Given the description of an element on the screen output the (x, y) to click on. 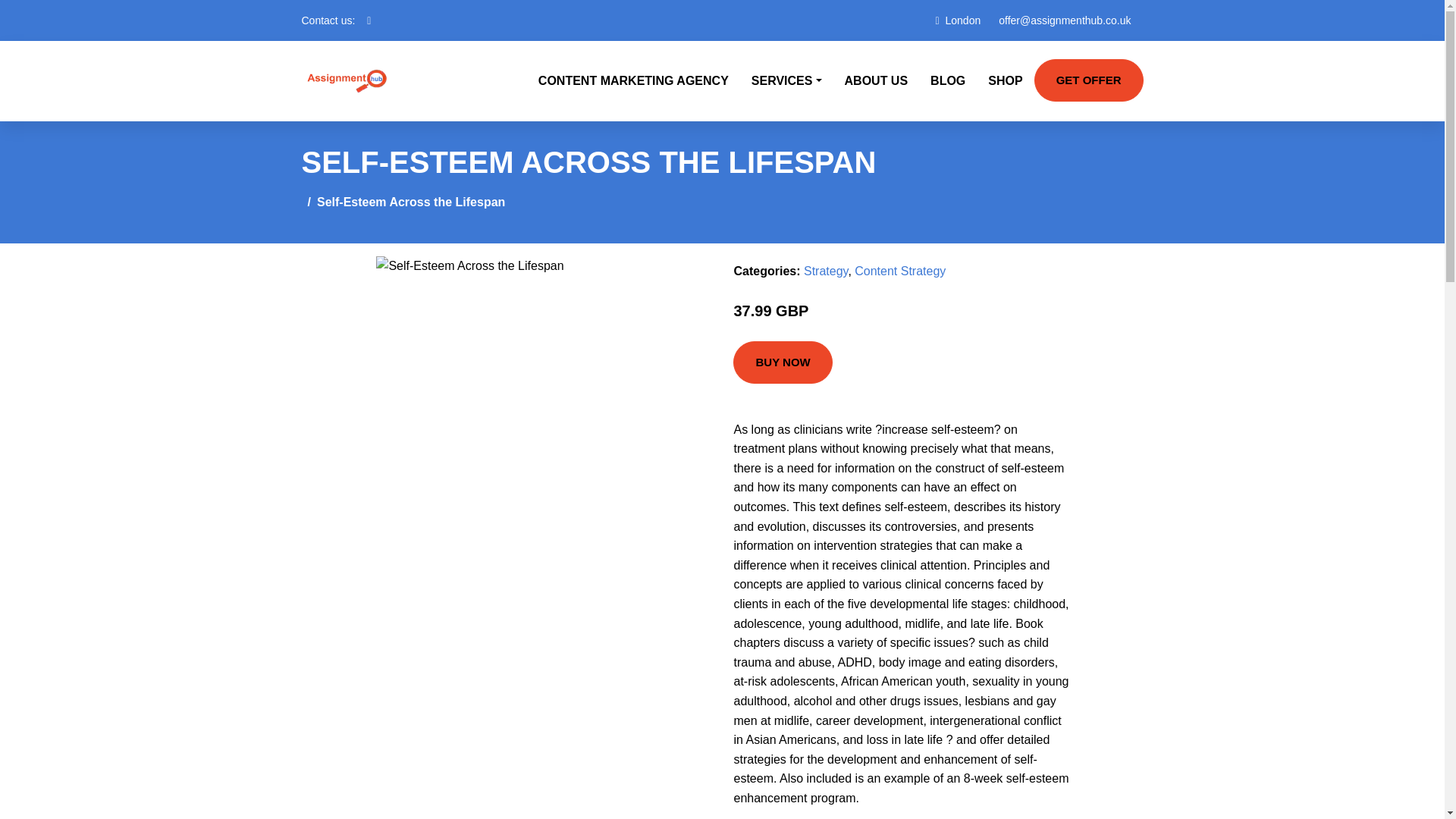
Strategy (825, 270)
Content Strategy (899, 270)
ABOUT US (876, 80)
GET OFFER (1087, 79)
CONTENT MARKETING AGENCY (633, 80)
London (963, 20)
SERVICES (785, 80)
BUY NOW (782, 362)
